Given the description of an element on the screen output the (x, y) to click on. 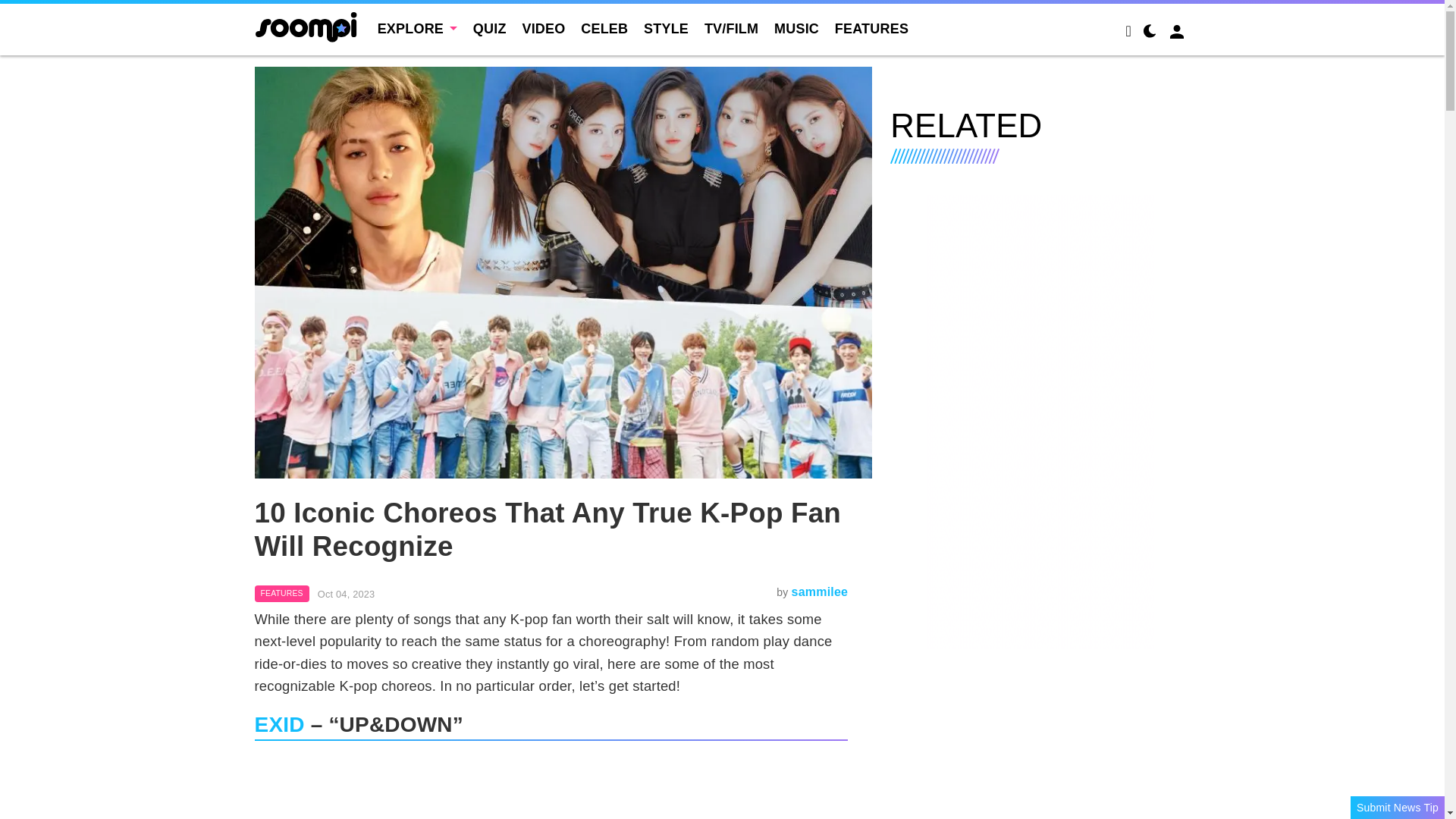
EXID (279, 724)
Features (281, 593)
FEATURES (871, 28)
Articles by sammilee (820, 591)
MUSIC (796, 28)
STYLE (665, 28)
sammilee (820, 591)
Night Mode Toggle (1149, 33)
VIDEO (542, 28)
QUIZ (489, 28)
